Given the description of an element on the screen output the (x, y) to click on. 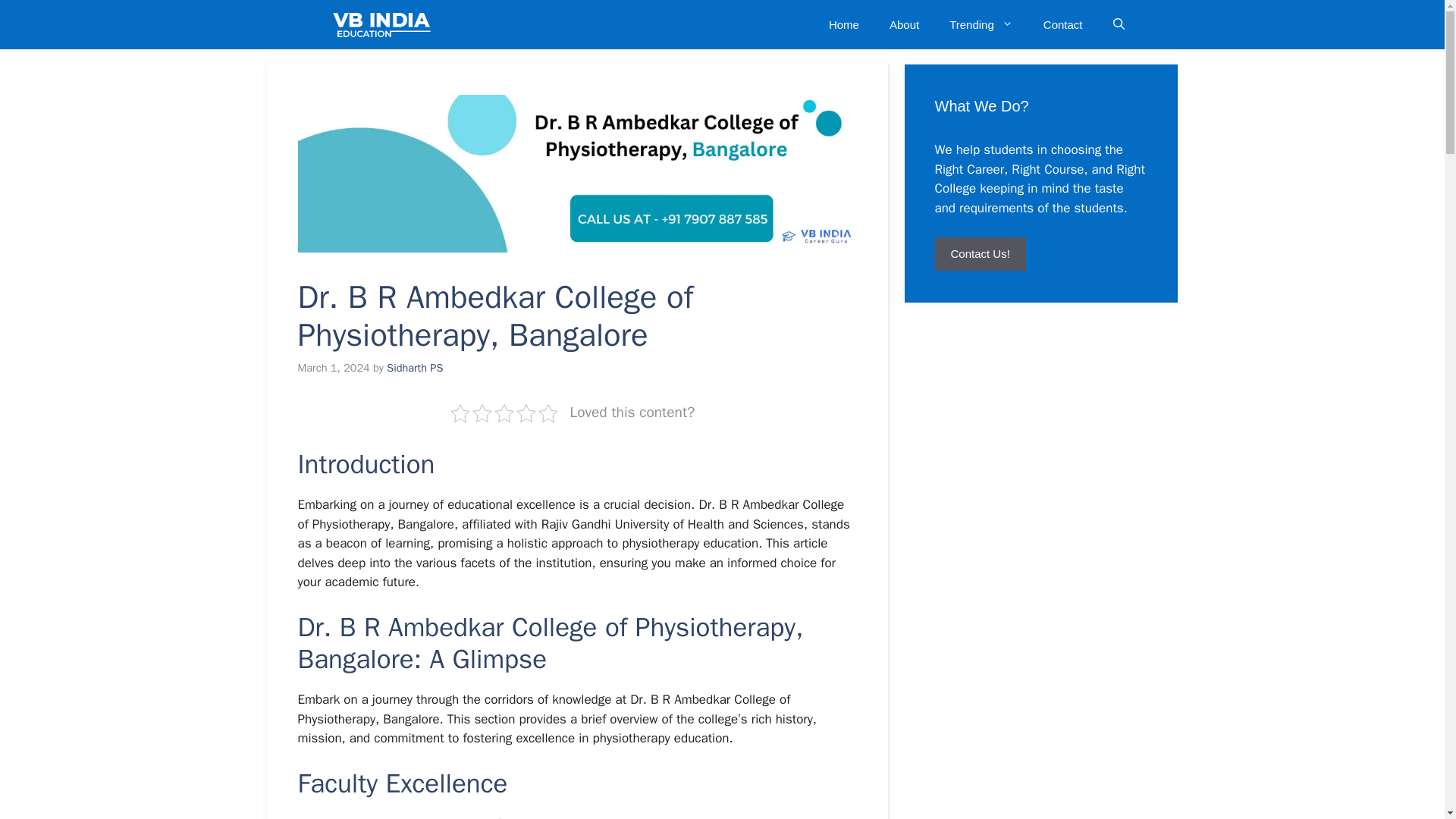
View all posts by Sidharth PS (414, 367)
Trending (980, 23)
Home (844, 23)
Contact (1062, 23)
Contact Us! (979, 253)
VB India (382, 24)
Contact Us! (979, 253)
About (904, 23)
Sidharth PS (414, 367)
